Given the description of an element on the screen output the (x, y) to click on. 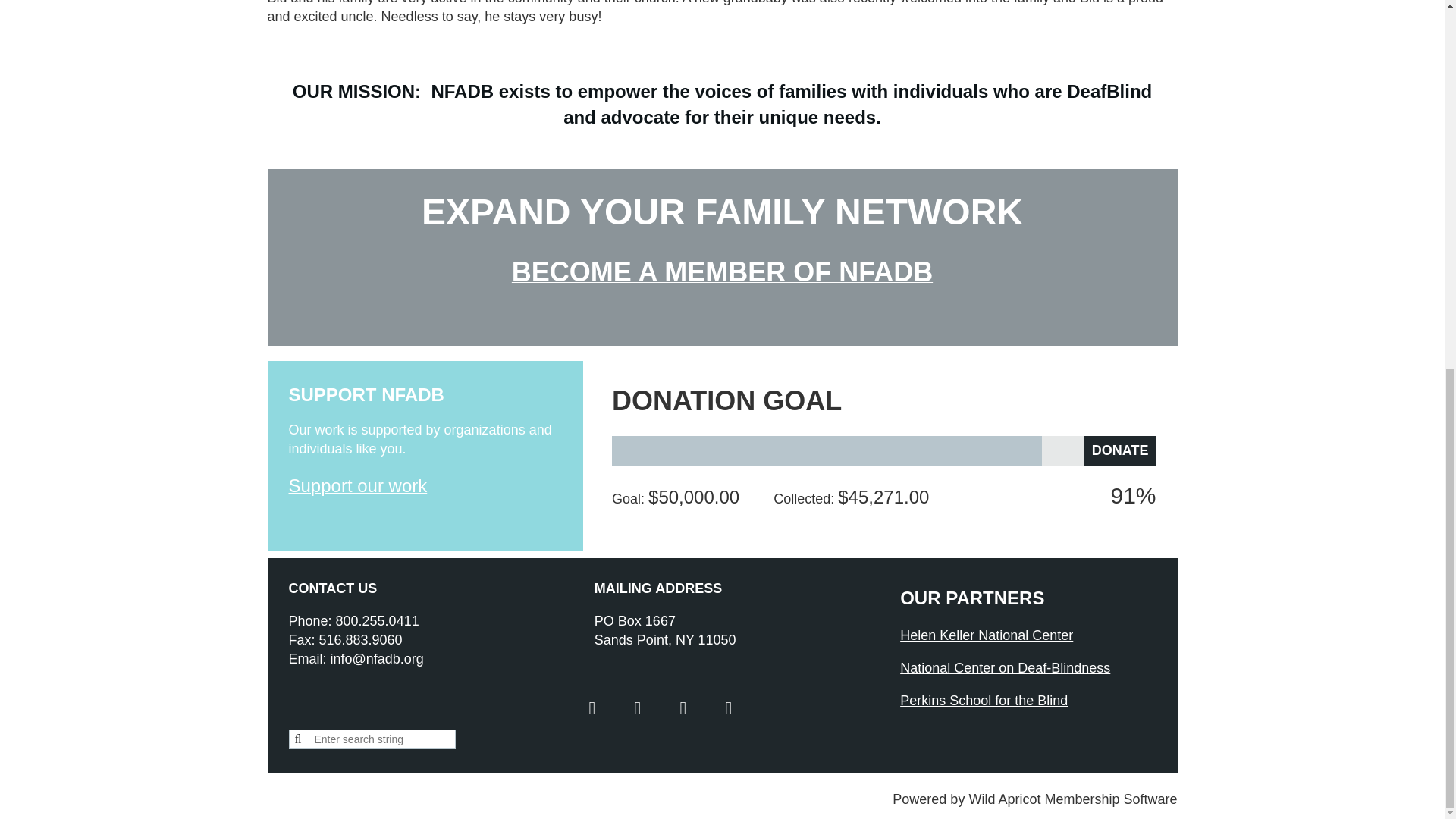
Donate (1120, 450)
